Given the description of an element on the screen output the (x, y) to click on. 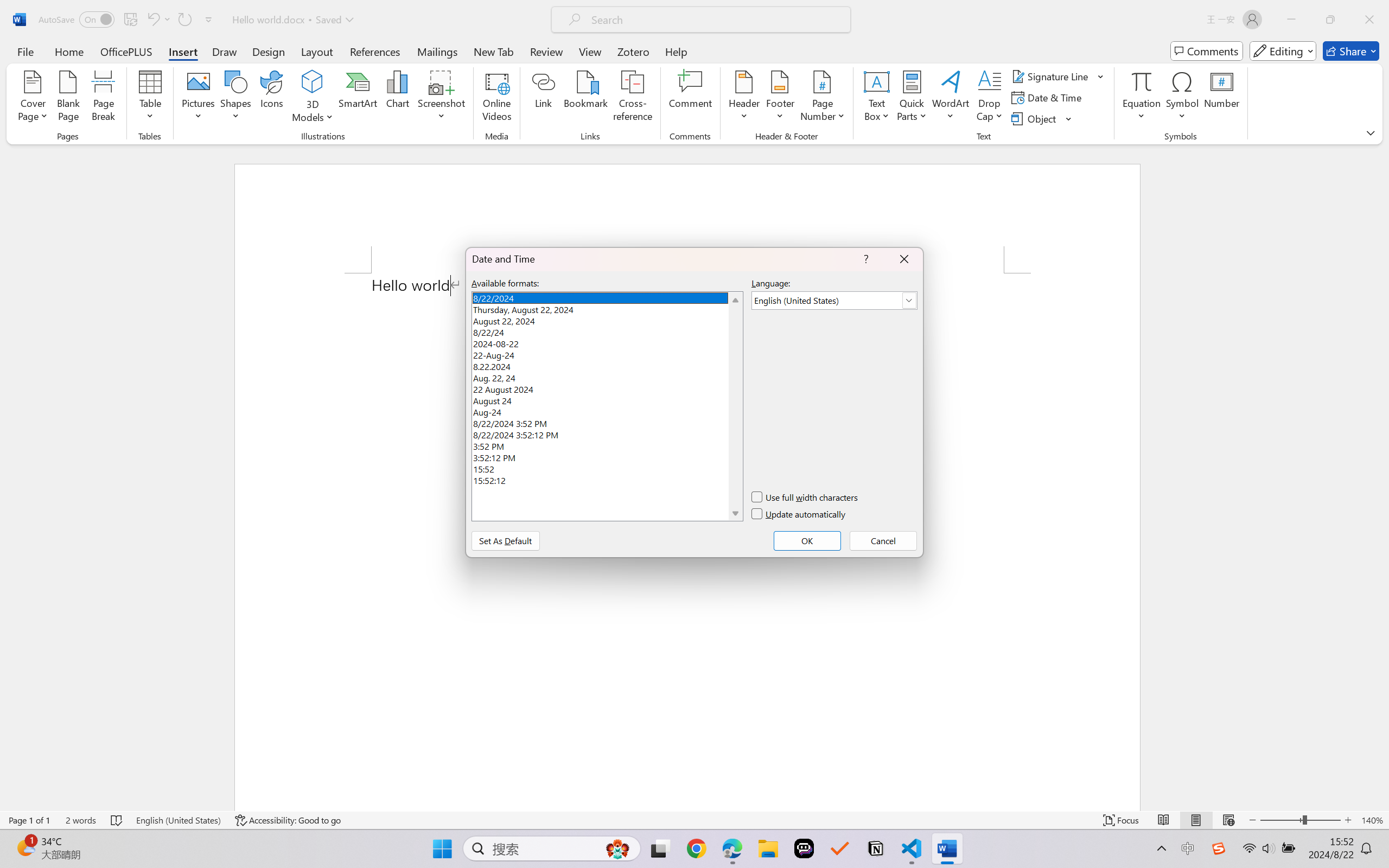
OfficePLUS (126, 51)
Screenshot (441, 97)
Zoom 140% (1372, 819)
AutomationID: DynamicSearchBoxGleamImage (617, 848)
Save (130, 19)
Object... (1035, 118)
22 August 2024 (606, 388)
Home (69, 51)
Shapes (235, 97)
Draw (224, 51)
Footer (780, 97)
Web Layout (1228, 819)
Share (1350, 51)
